Given the description of an element on the screen output the (x, y) to click on. 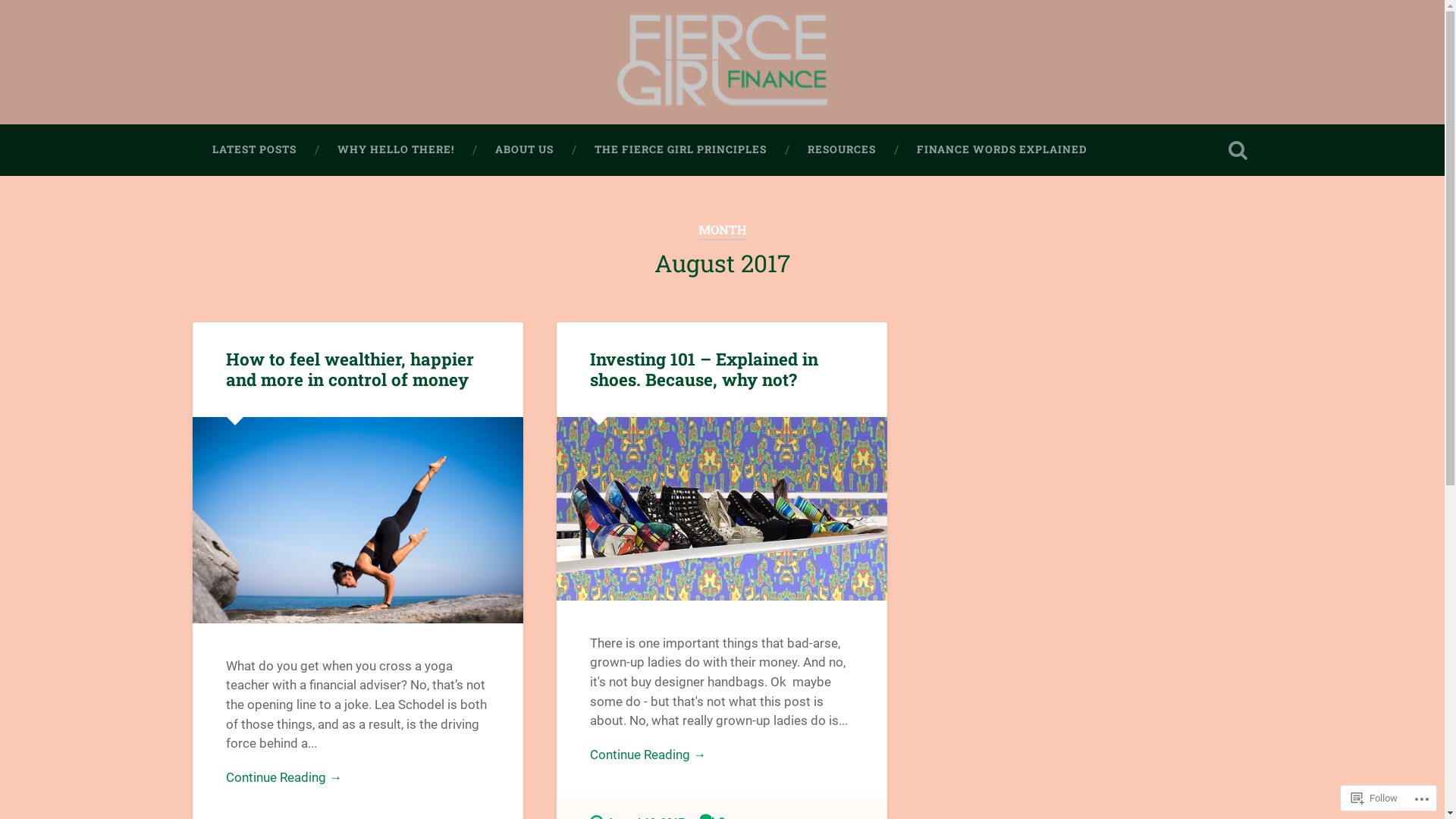
How to feel wealthier, happier and more in control of money Element type: text (349, 368)
Fierce Girl Finance Element type: text (318, 85)
THE FIERCE GIRL PRINCIPLES Element type: text (679, 149)
Follow Element type: text (1374, 797)
WHY HELLO THERE! Element type: text (395, 149)
FINANCE WORDS EXPLAINED Element type: text (1001, 149)
RESOURCES Element type: text (841, 149)
LATEST POSTS Element type: text (253, 149)
ABOUT US Element type: text (524, 149)
Open Search Element type: text (1237, 149)
